Given the description of an element on the screen output the (x, y) to click on. 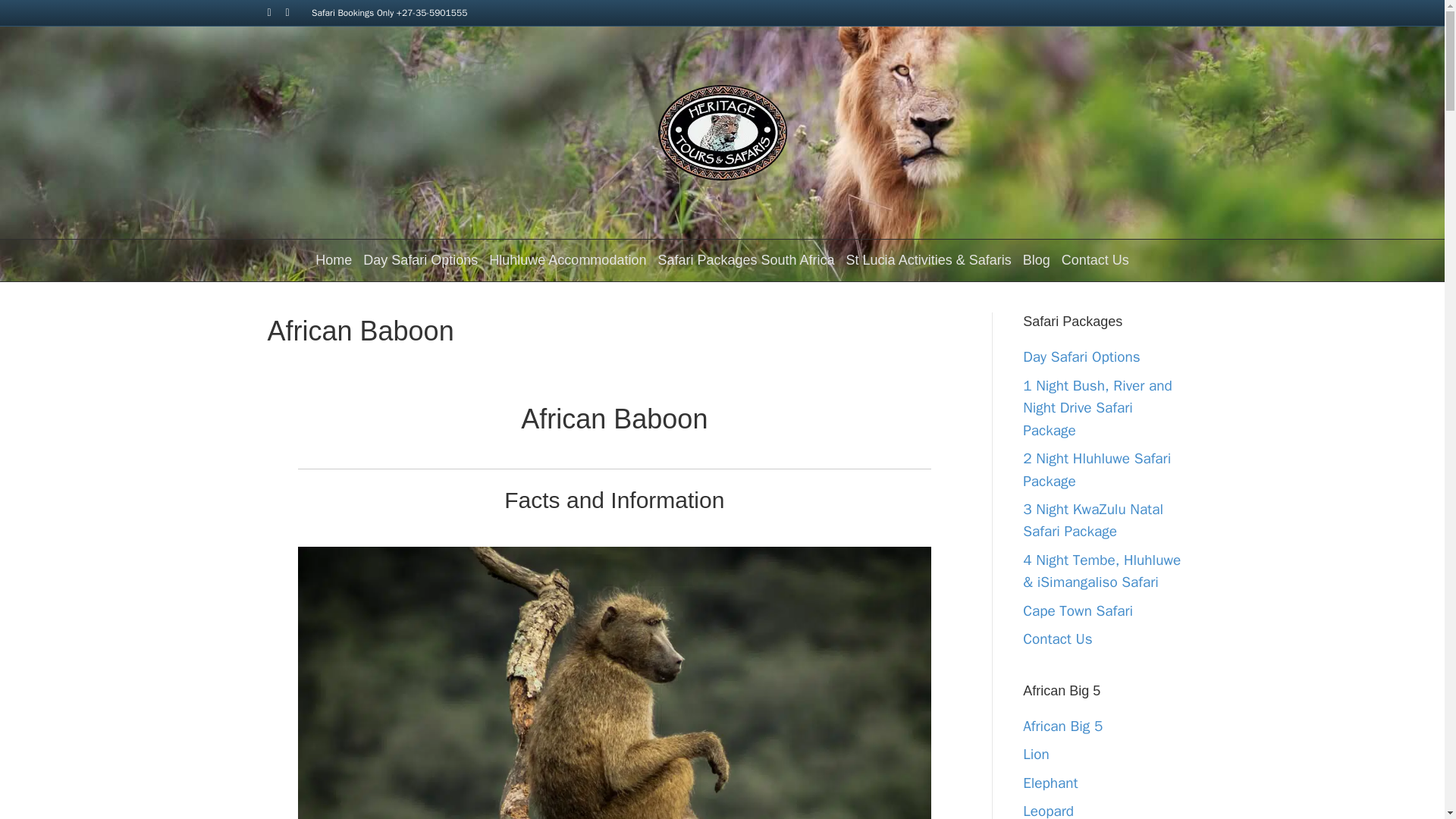
1 Night Bush, River and Night Drive Safari Package (1097, 407)
3 Night KwaZulu Natal Safari Package (1093, 520)
2 Night Hluhluwe Safari Package (1096, 469)
Contact Us (1095, 260)
Safari Packages South Africa (745, 260)
Home (333, 260)
Hluhluwe Accommodation (566, 260)
Day Safari Options (1081, 357)
african baboon (614, 790)
Youtube (293, 11)
Blog (1036, 260)
Facebook (275, 11)
Day Safari Options (420, 260)
